Given the description of an element on the screen output the (x, y) to click on. 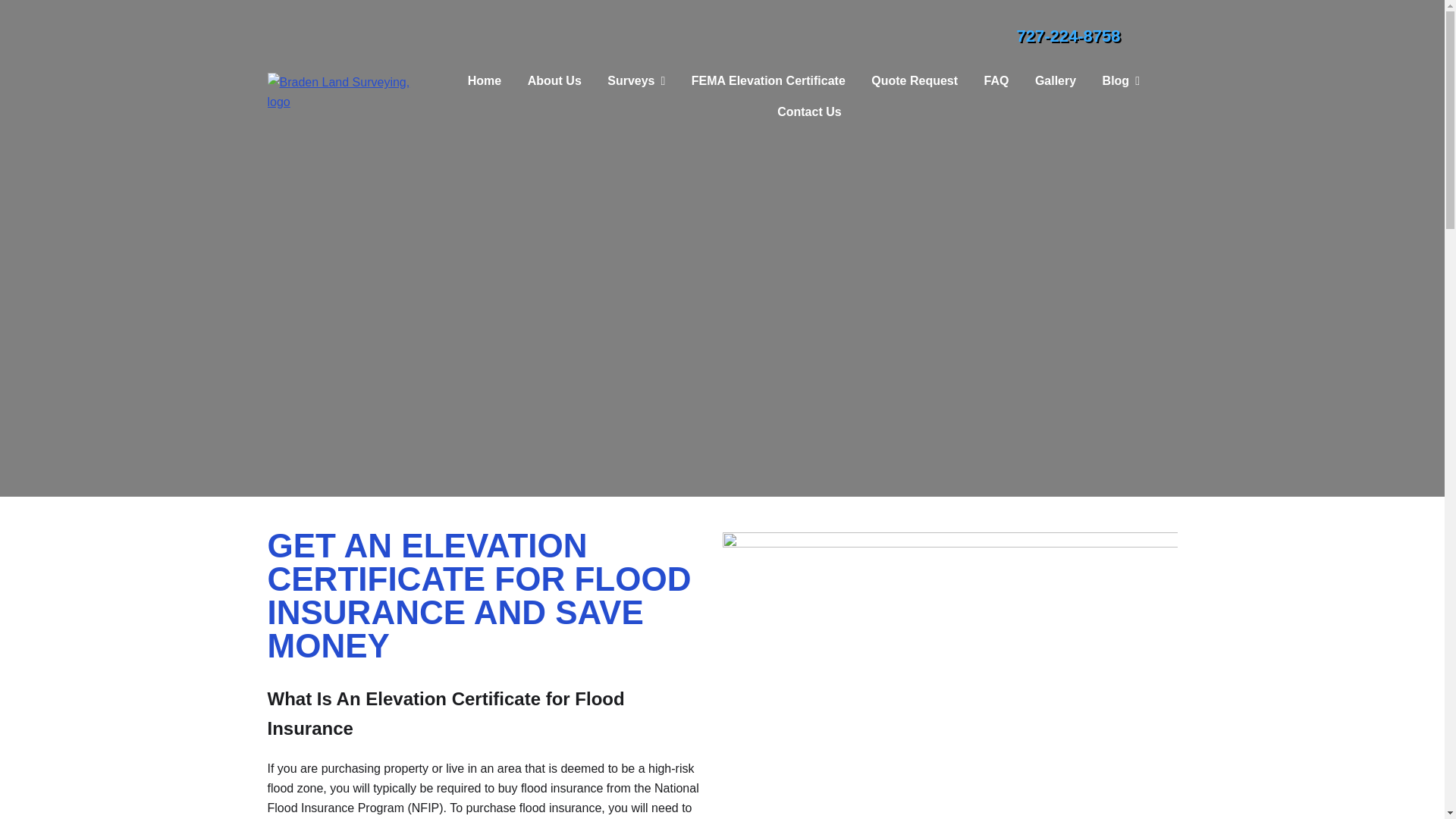
Residential Survey (636, 113)
Surveys (636, 81)
Contact Us (803, 111)
FEMA Elevation Certificate (768, 81)
Home (484, 81)
727-224-8758 (1067, 35)
Gallery (1055, 81)
Blog (1120, 81)
About Us (554, 81)
FAQ (996, 81)
press-releases (1119, 113)
Quote Request (914, 81)
